Given the description of an element on the screen output the (x, y) to click on. 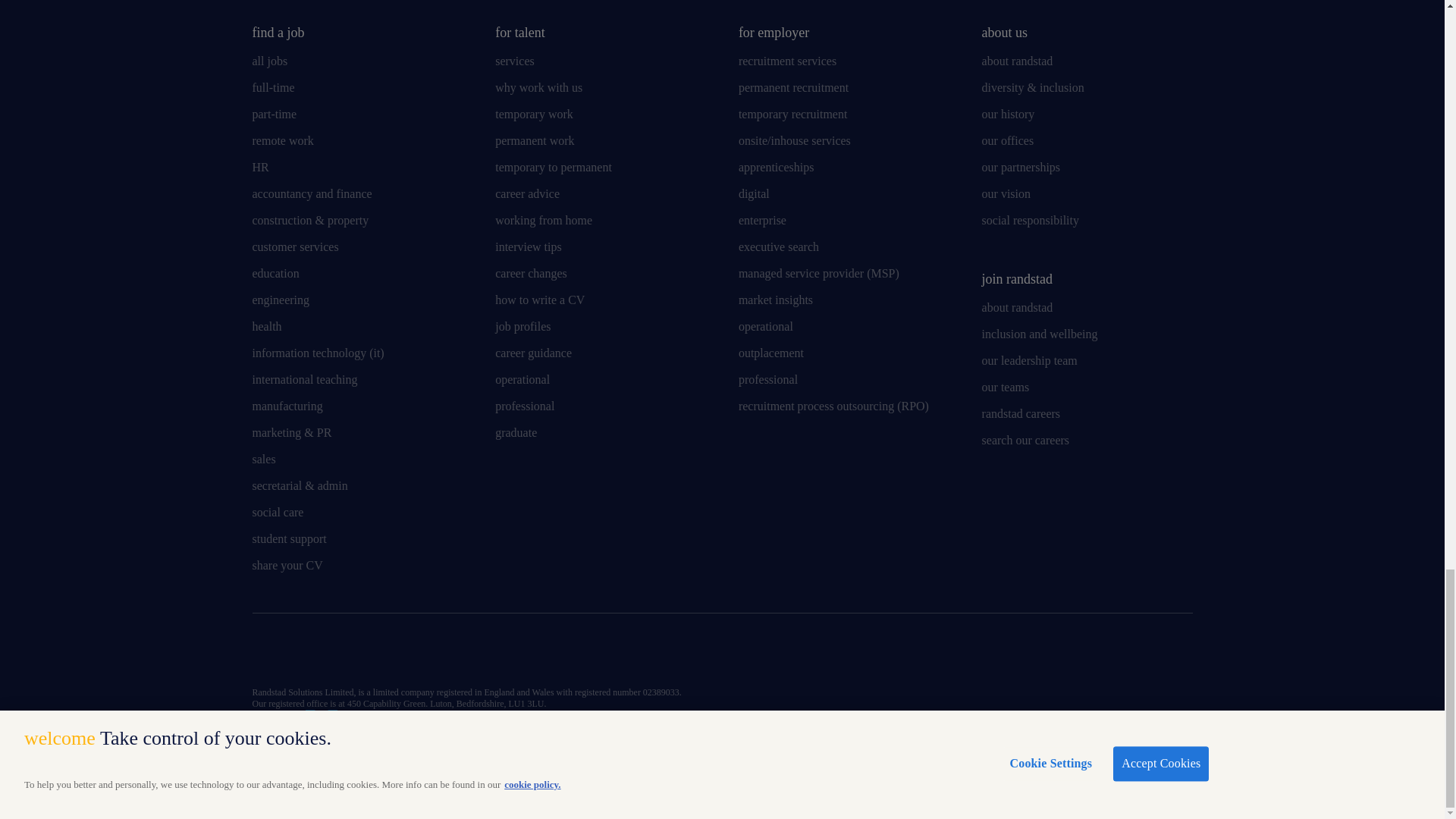
linkedin (263, 654)
twitter (301, 654)
facebook (338, 654)
youtube (376, 654)
instagram (414, 654)
